Given the description of an element on the screen output the (x, y) to click on. 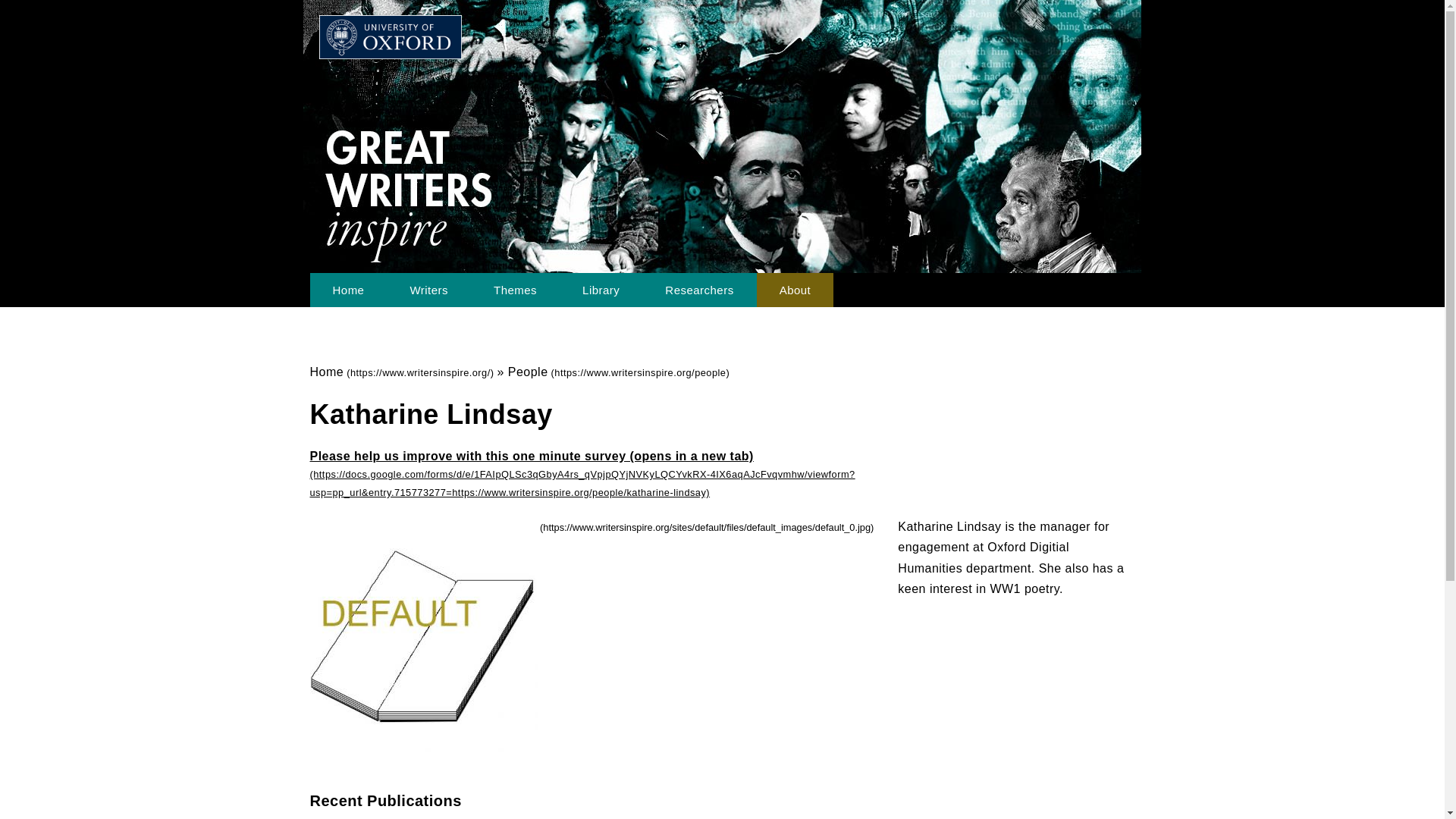
People (618, 371)
Researchers (698, 289)
Themes (514, 289)
Themes of the Great Writers (514, 289)
Home (347, 289)
Writers (428, 289)
Great Writers Inspire Homepage (347, 289)
About (795, 289)
Library of all media files (600, 289)
Library (600, 289)
A presentation of the project. (795, 289)
Home (402, 371)
Great Writers Inspire (520, 49)
The Great Writers (428, 289)
Academics in this project (698, 289)
